Given the description of an element on the screen output the (x, y) to click on. 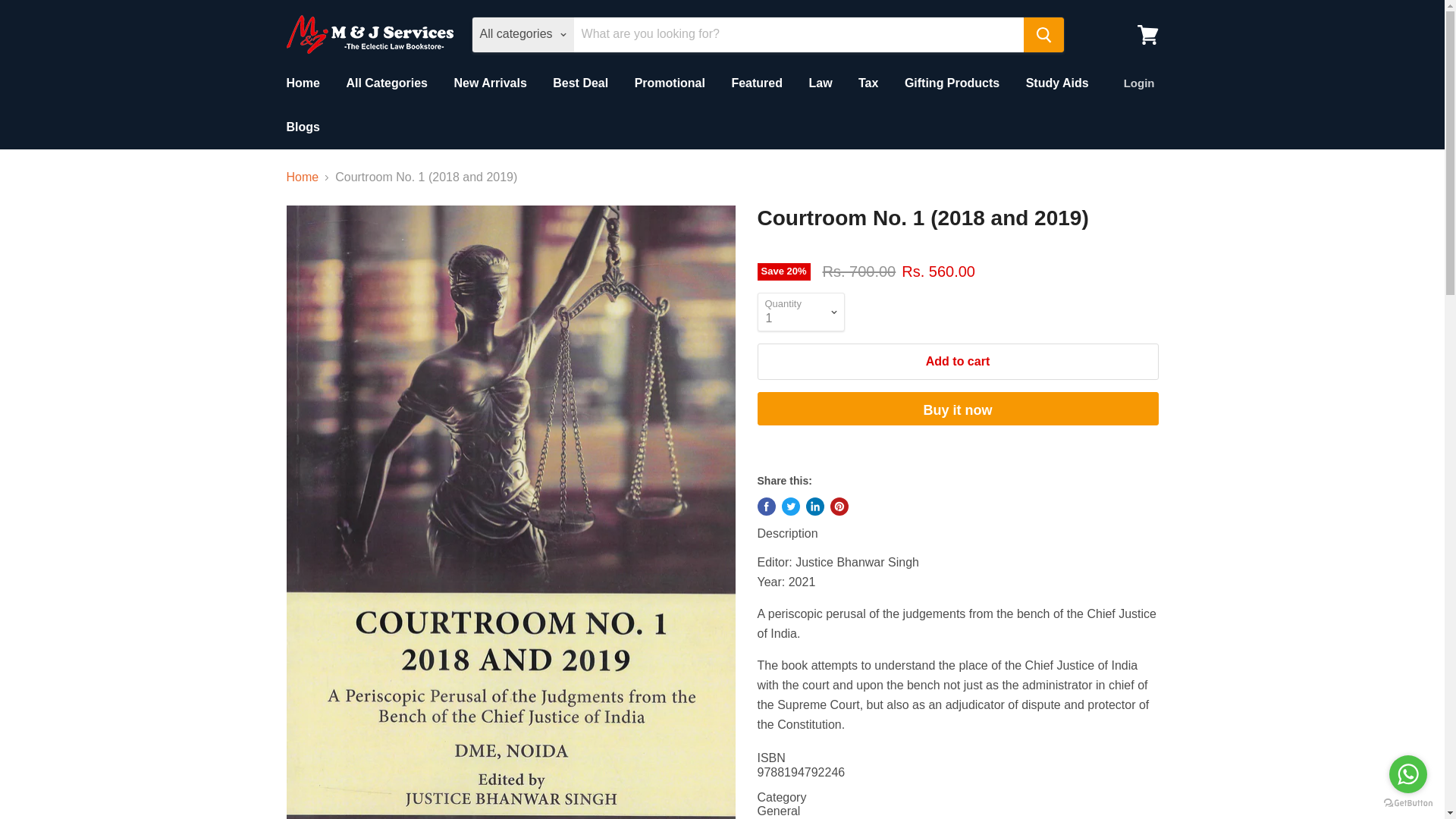
Featured (756, 83)
Buy it now (957, 408)
All Categories (386, 83)
Add to cart (957, 361)
Gifting Products (951, 83)
Best Deal (580, 83)
Law (819, 83)
View cart (1147, 33)
Home (302, 177)
Promotional (669, 83)
